Given the description of an element on the screen output the (x, y) to click on. 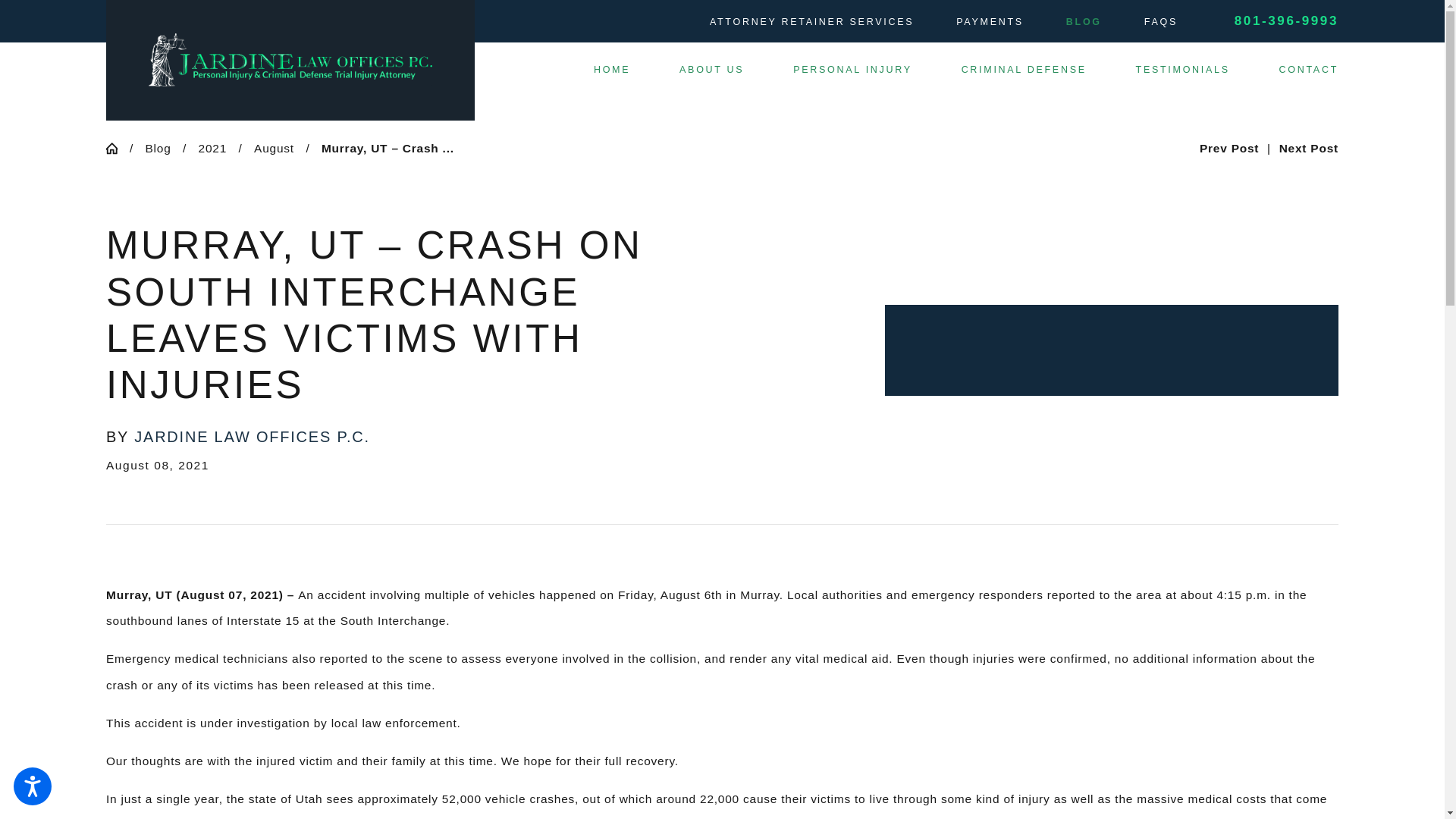
BLOG (1083, 21)
HOME (612, 69)
PAYMENTS (989, 21)
Go Home (117, 147)
CRIMINAL DEFENSE (1023, 69)
Open the accessibility options menu (31, 786)
801-396-9993 (1286, 21)
PERSONAL INJURY (852, 69)
ABOUT US (711, 69)
FAQS (1160, 21)
ATTORNEY RETAINER SERVICES (812, 21)
Jardine Law Offices P.C. (290, 59)
